Given the description of an element on the screen output the (x, y) to click on. 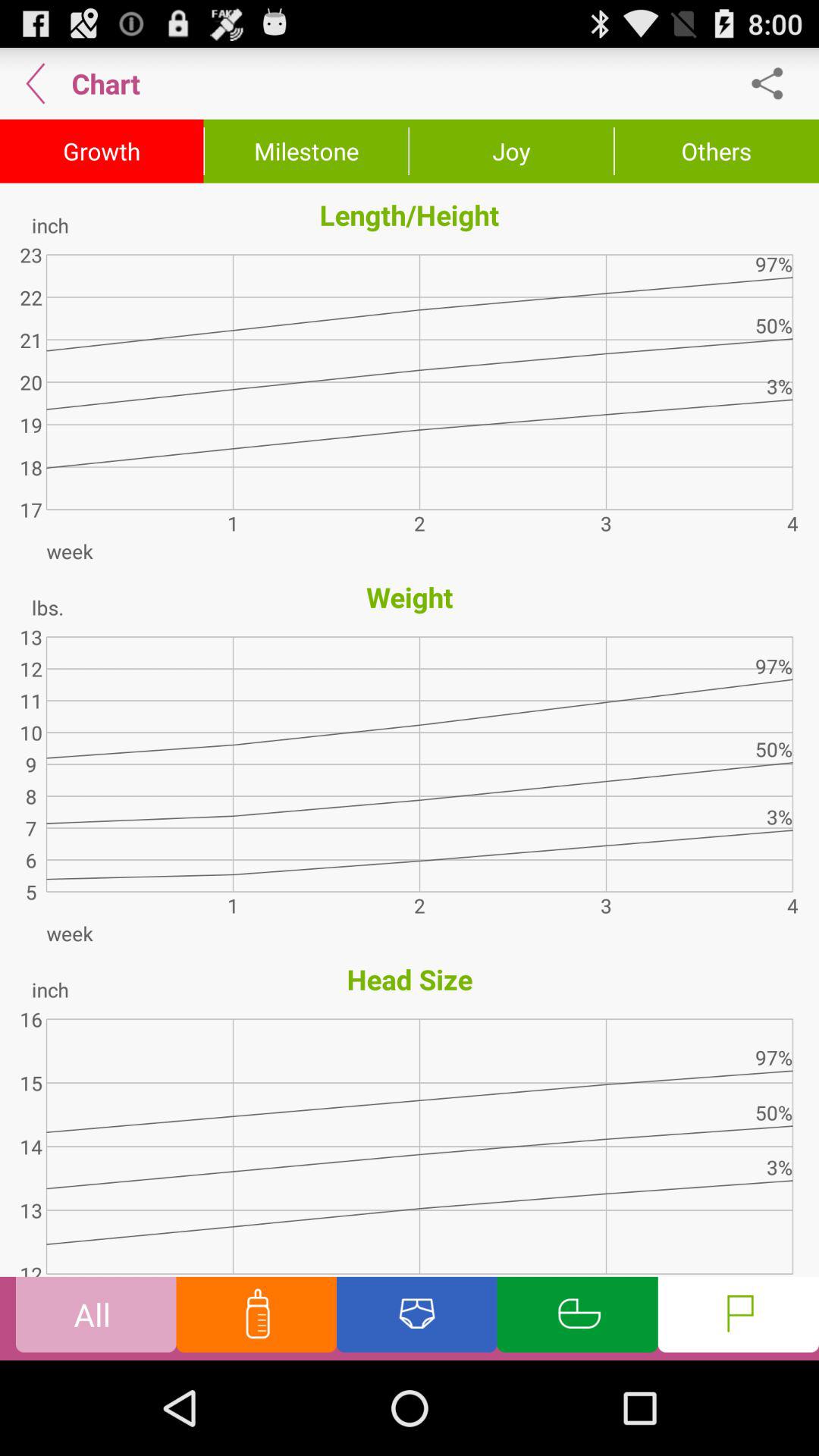
jump until the growth icon (101, 151)
